Given the description of an element on the screen output the (x, y) to click on. 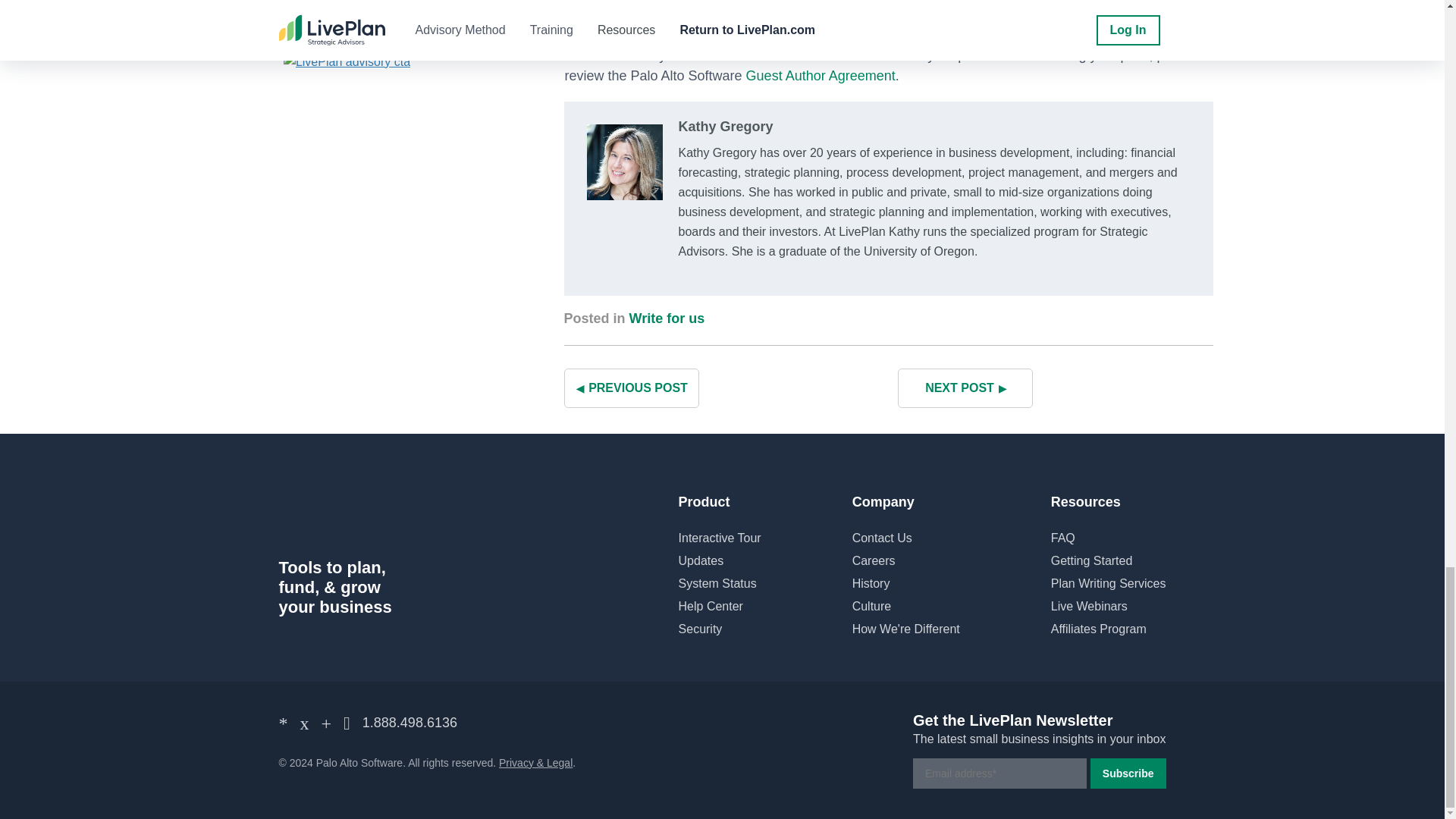
Guest Author Agreement (820, 75)
PREVIOUS POST (631, 387)
NEXT POST (965, 387)
Write for us (666, 318)
Kathy Gregory (725, 126)
